Given the description of an element on the screen output the (x, y) to click on. 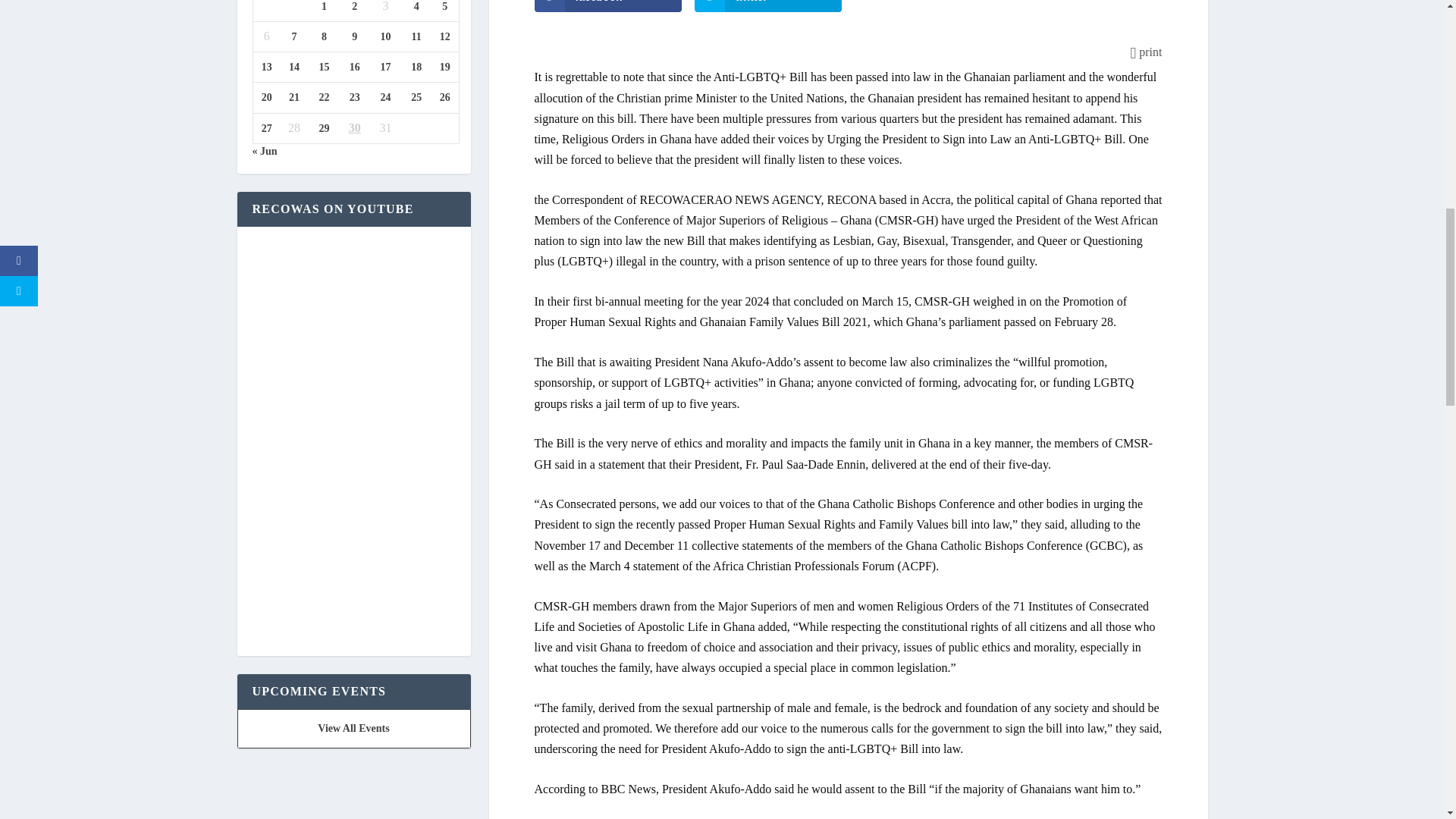
facebook (607, 6)
twitter (768, 6)
